Given the description of an element on the screen output the (x, y) to click on. 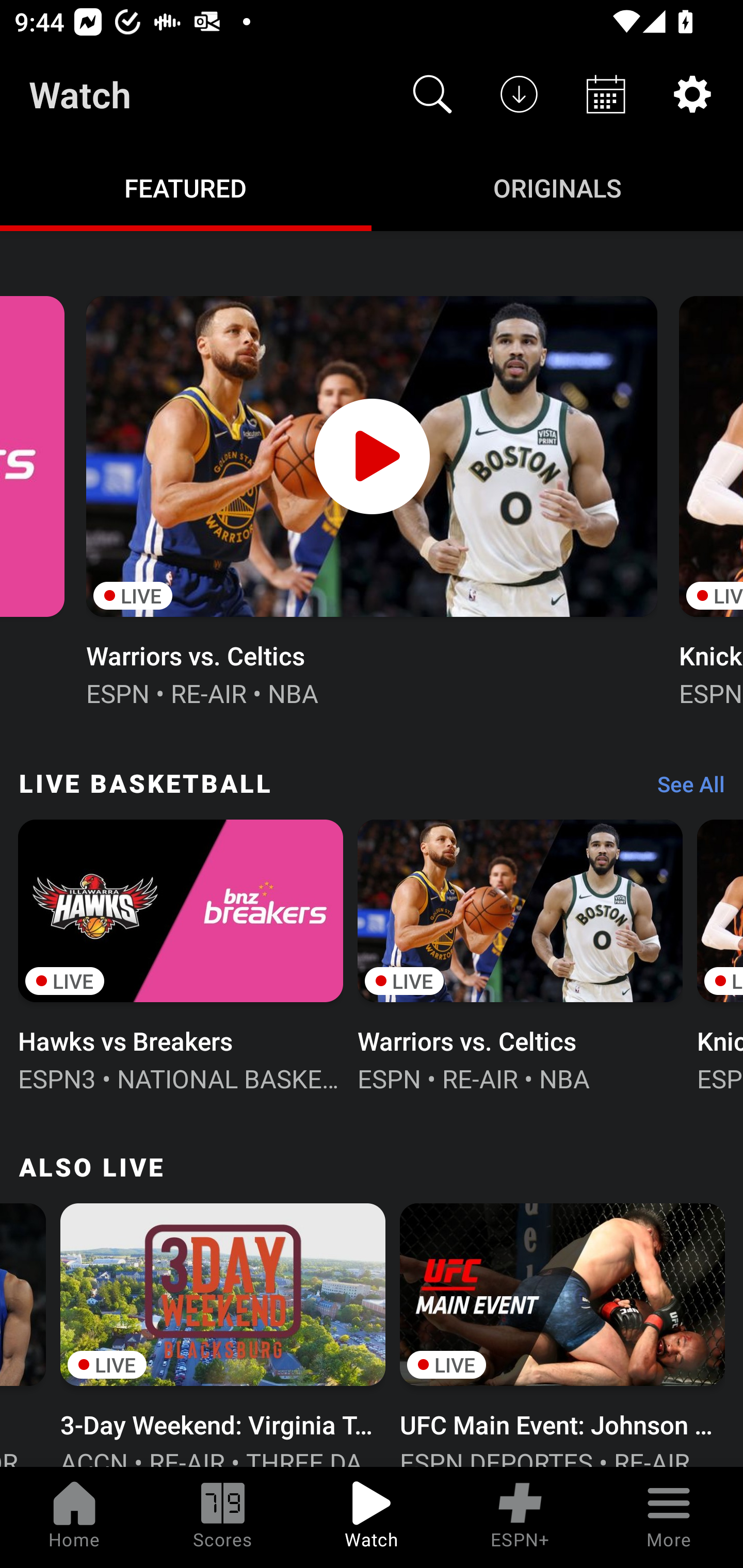
Search (432, 93)
Downloads (518, 93)
Schedule (605, 93)
Settings (692, 93)
Originals ORIGINALS (557, 187)
 LIVE Warriors vs. Celtics ESPN • RE-AIR • NBA (371, 499)
See All (683, 788)
LIVE Warriors vs. Celtics ESPN • RE-AIR • NBA (519, 954)
Home (74, 1517)
Scores (222, 1517)
ESPN+ (519, 1517)
More (668, 1517)
